Given the description of an element on the screen output the (x, y) to click on. 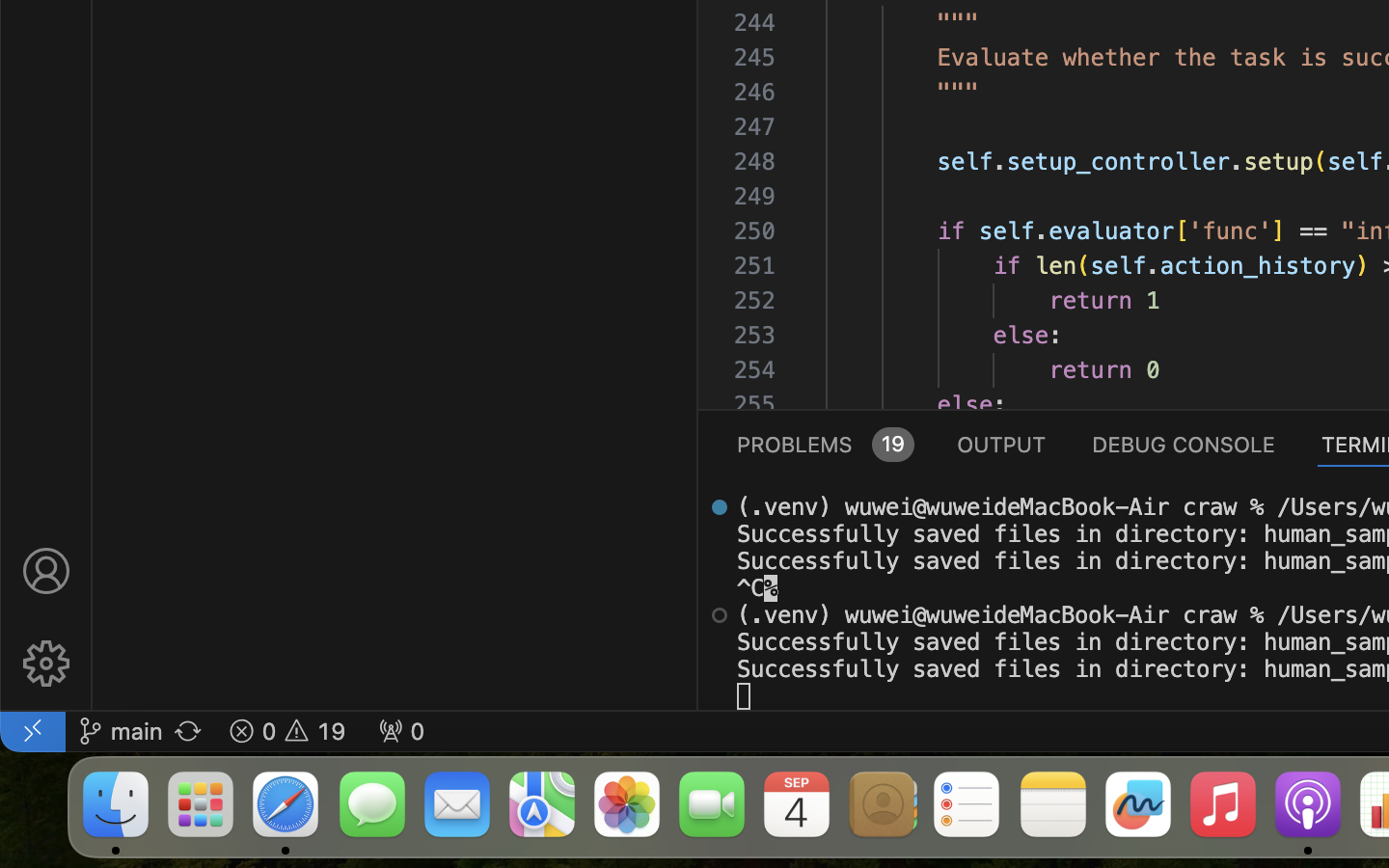
19  0  Element type: AXButton (286, 730)
main  Element type: AXButton (120, 730)
 0 Element type: AXButton (400, 730)
 Element type: AXStaticText (46, 663)
0 PROBLEMS 19 Element type: AXRadioButton (824, 443)
